Given the description of an element on the screen output the (x, y) to click on. 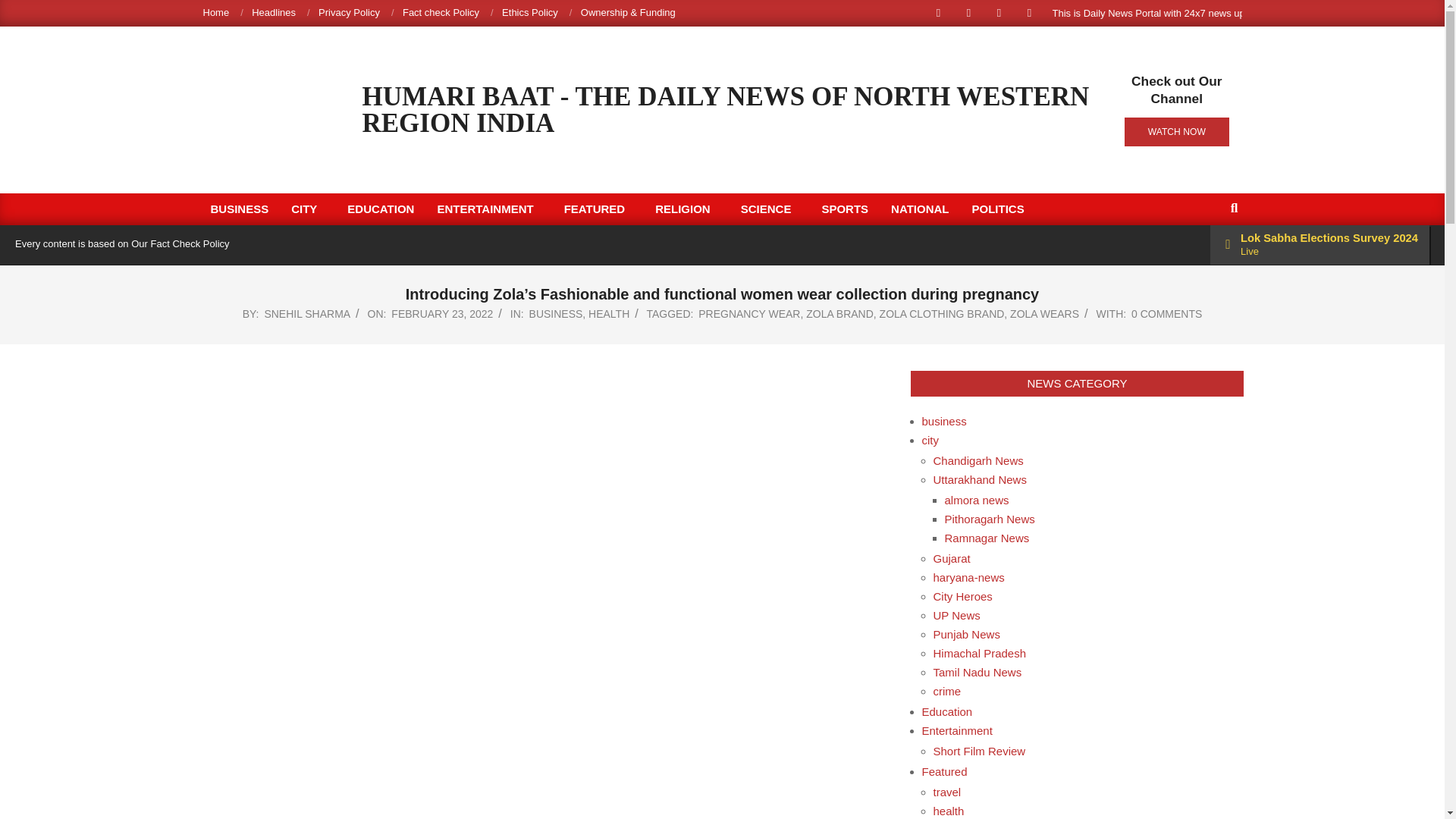
CITY (307, 209)
HUMARI BAAT - THE DAILY NEWS OF NORTH WESTERN REGION INDIA (725, 109)
BUSINESS (238, 209)
Privacy Policy (349, 12)
RELIGION (686, 209)
Home (216, 12)
FEATURED (599, 209)
WATCH NOW (1176, 131)
SCIENCE (769, 209)
Ethics Policy (529, 12)
ENTERTAINMENT (488, 209)
Wednesday, February 23, 2022, 9:14 am (442, 313)
Fact check Policy (441, 12)
EDUCATION (380, 209)
Headlines (273, 12)
